Given the description of an element on the screen output the (x, y) to click on. 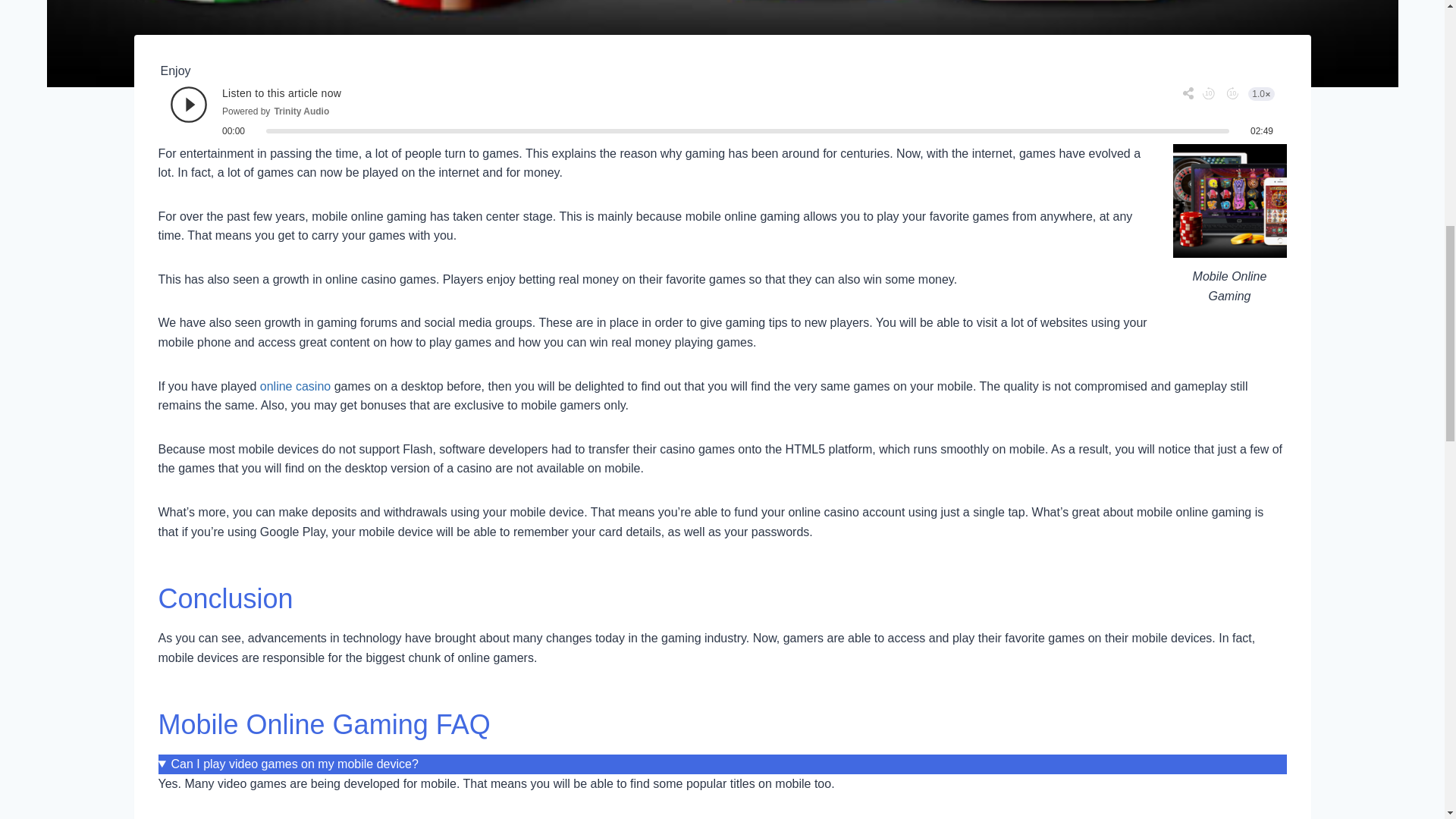
online casino (295, 386)
Trinity Audio Player (722, 110)
